Given the description of an element on the screen output the (x, y) to click on. 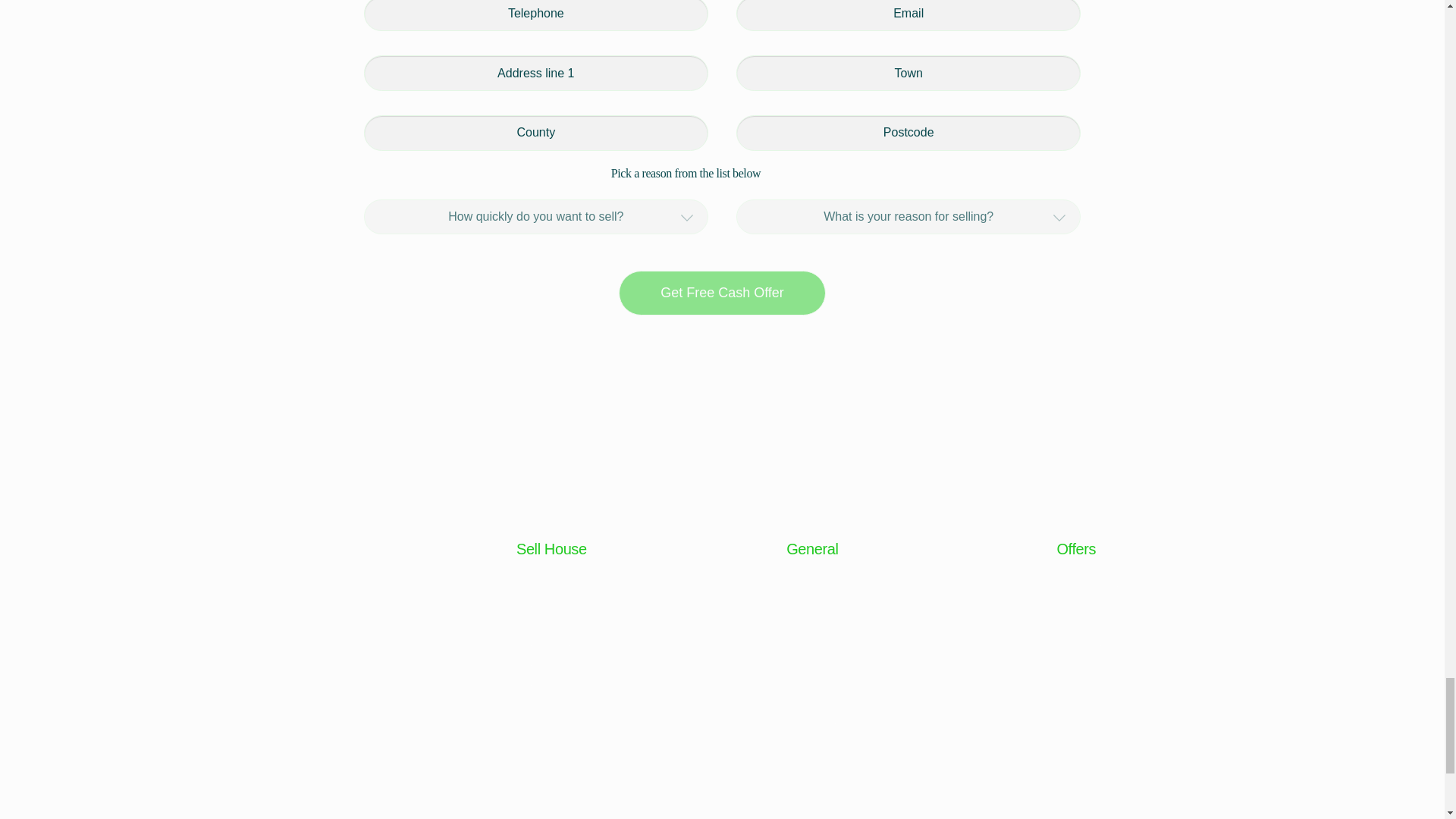
Get Free Cash Offer (721, 293)
